Given the description of an element on the screen output the (x, y) to click on. 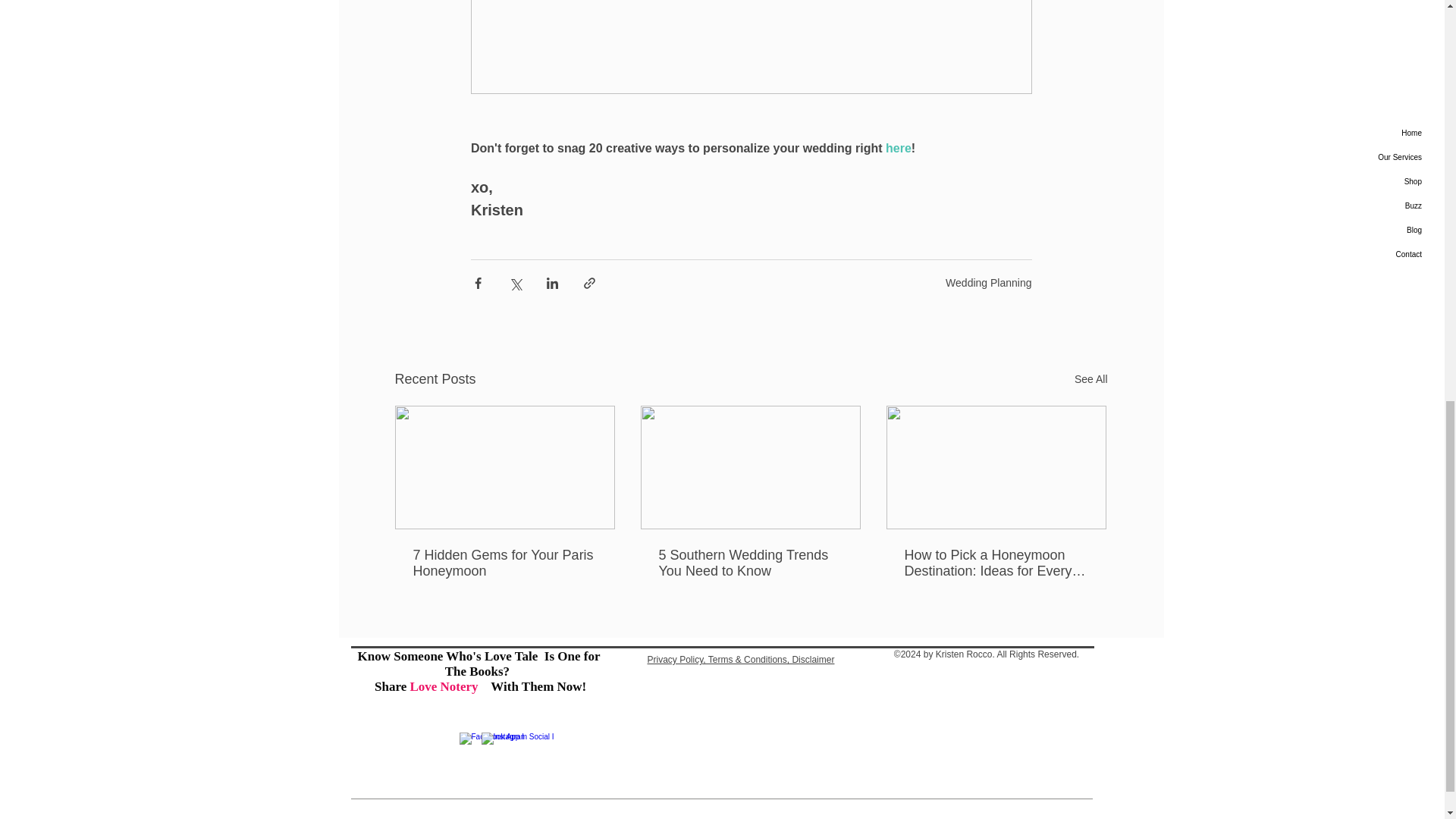
Wedding Planning (987, 282)
See All (1091, 379)
7 Hidden Gems for Your Paris Honeymoon (503, 563)
here (898, 147)
5 Southern Wedding Trends You Need to Know (749, 563)
